Given the description of an element on the screen output the (x, y) to click on. 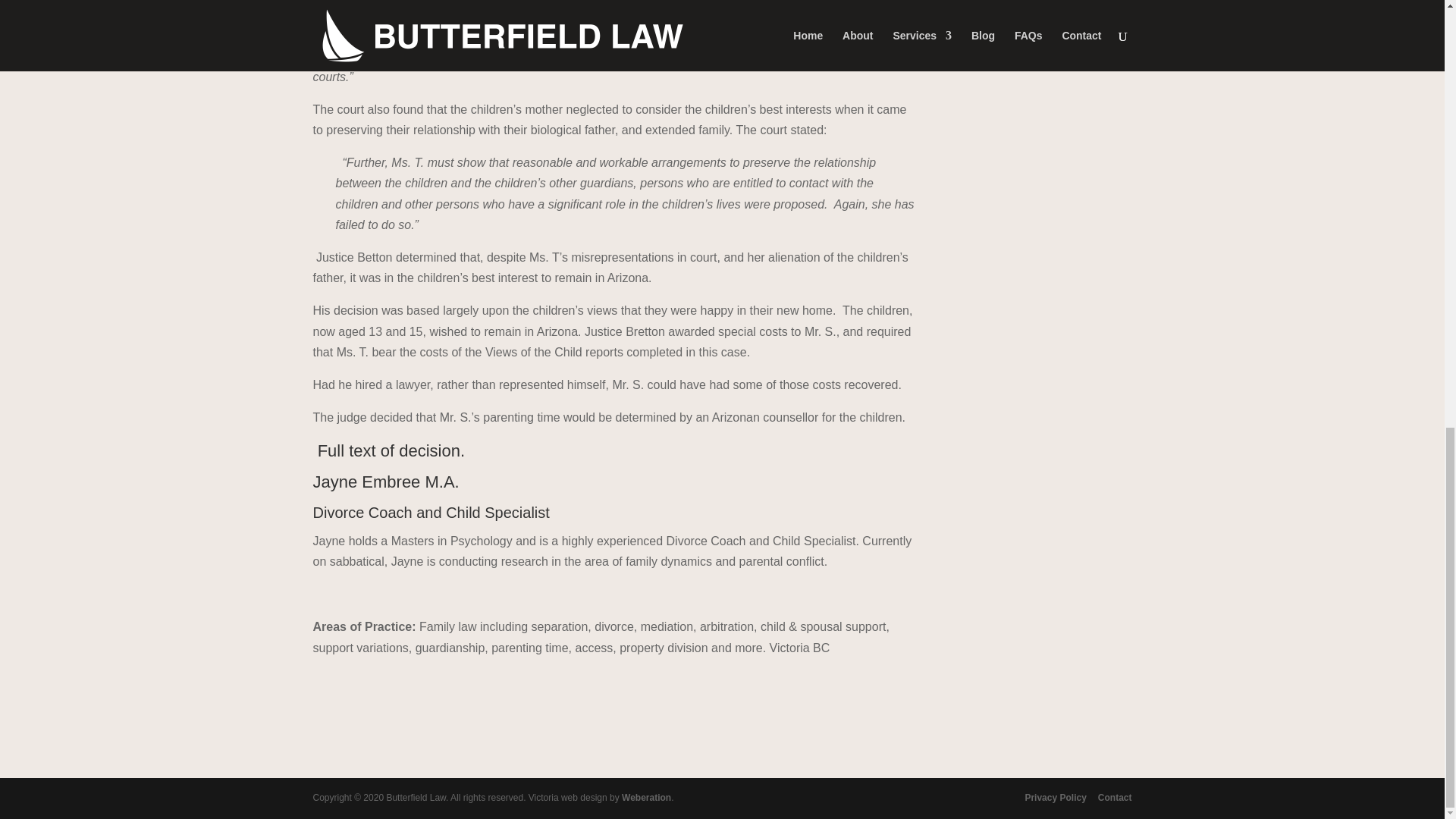
Full text of decision. (390, 450)
